Given the description of an element on the screen output the (x, y) to click on. 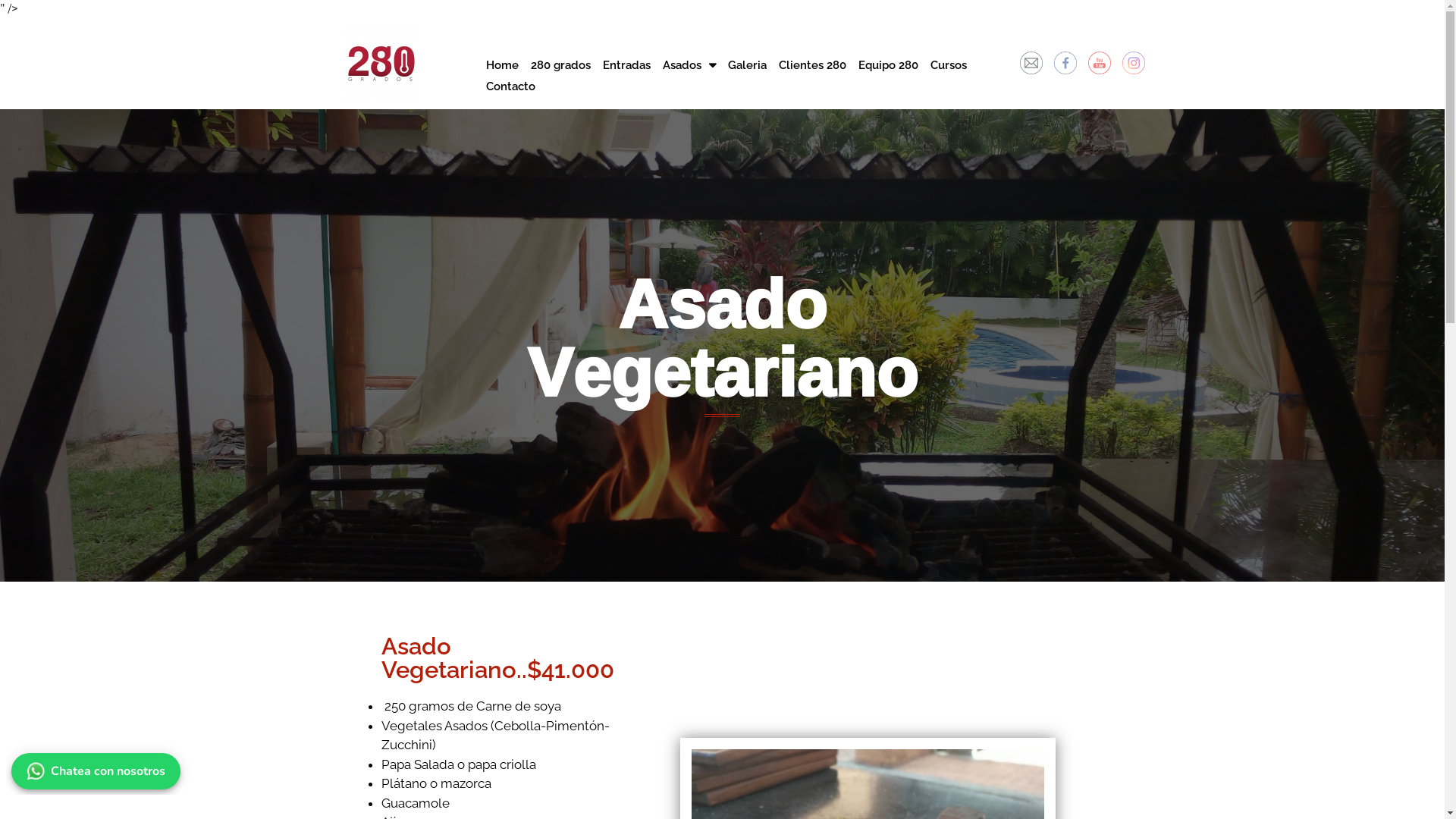
Home Element type: text (502, 64)
Cliengo Widget WhatsApp Element type: hover (98, 767)
Cursos Element type: text (948, 64)
Asados Element type: text (688, 64)
Email Element type: hover (1030, 62)
280 grados Element type: hover (381, 63)
Equipo 280 Element type: text (888, 64)
Clientes 280 Element type: text (812, 64)
Cliengo Widget Element type: hover (1405, 760)
280 grados Element type: text (560, 64)
Facebook Element type: hover (1065, 62)
Galeria Element type: text (746, 64)
Contacto Element type: text (510, 86)
Youtube Element type: hover (1099, 62)
Instagram Element type: hover (1133, 62)
Entradas Element type: text (626, 64)
